Given the description of an element on the screen output the (x, y) to click on. 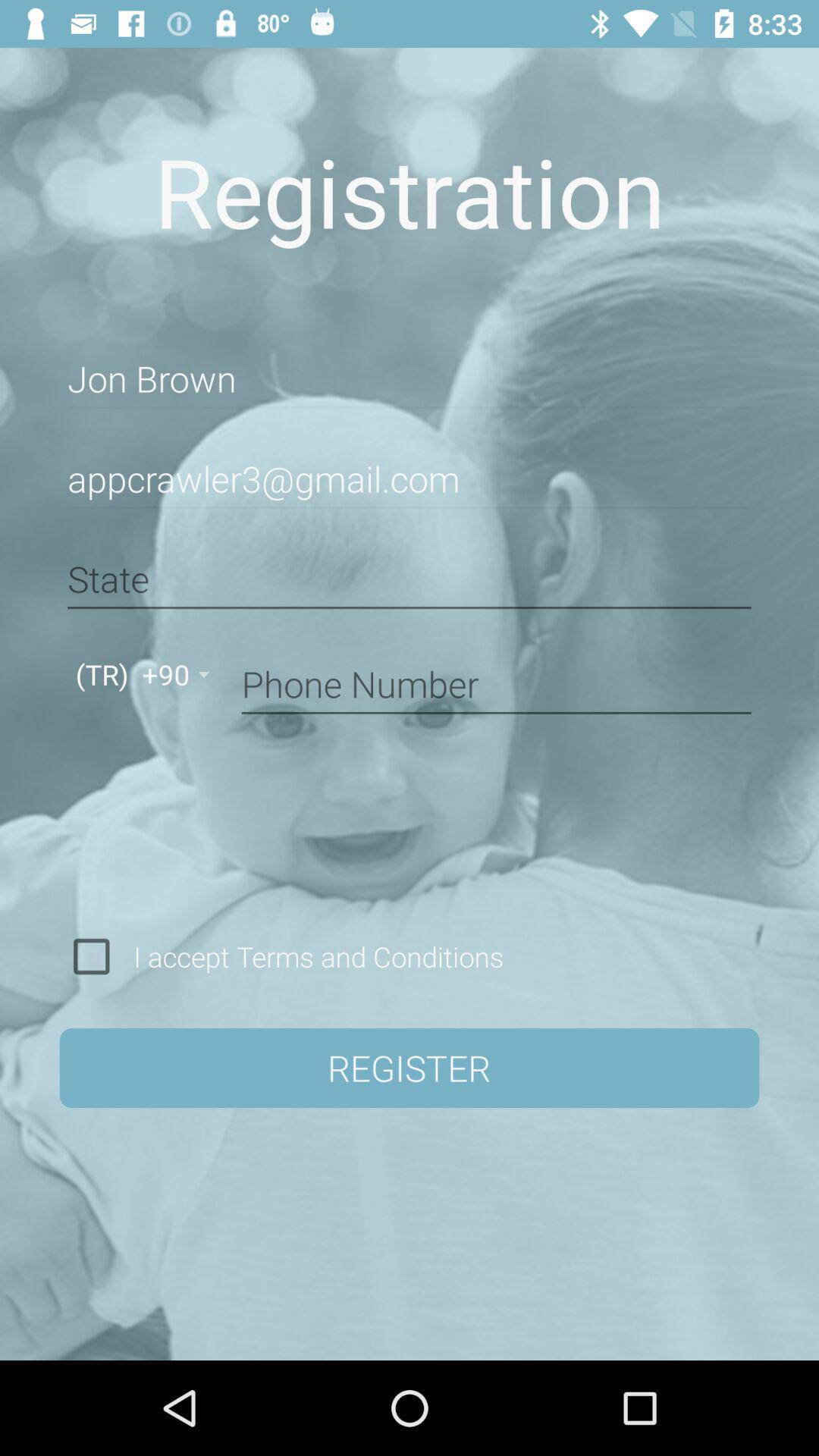
scroll until jon brown (409, 379)
